Given the description of an element on the screen output the (x, y) to click on. 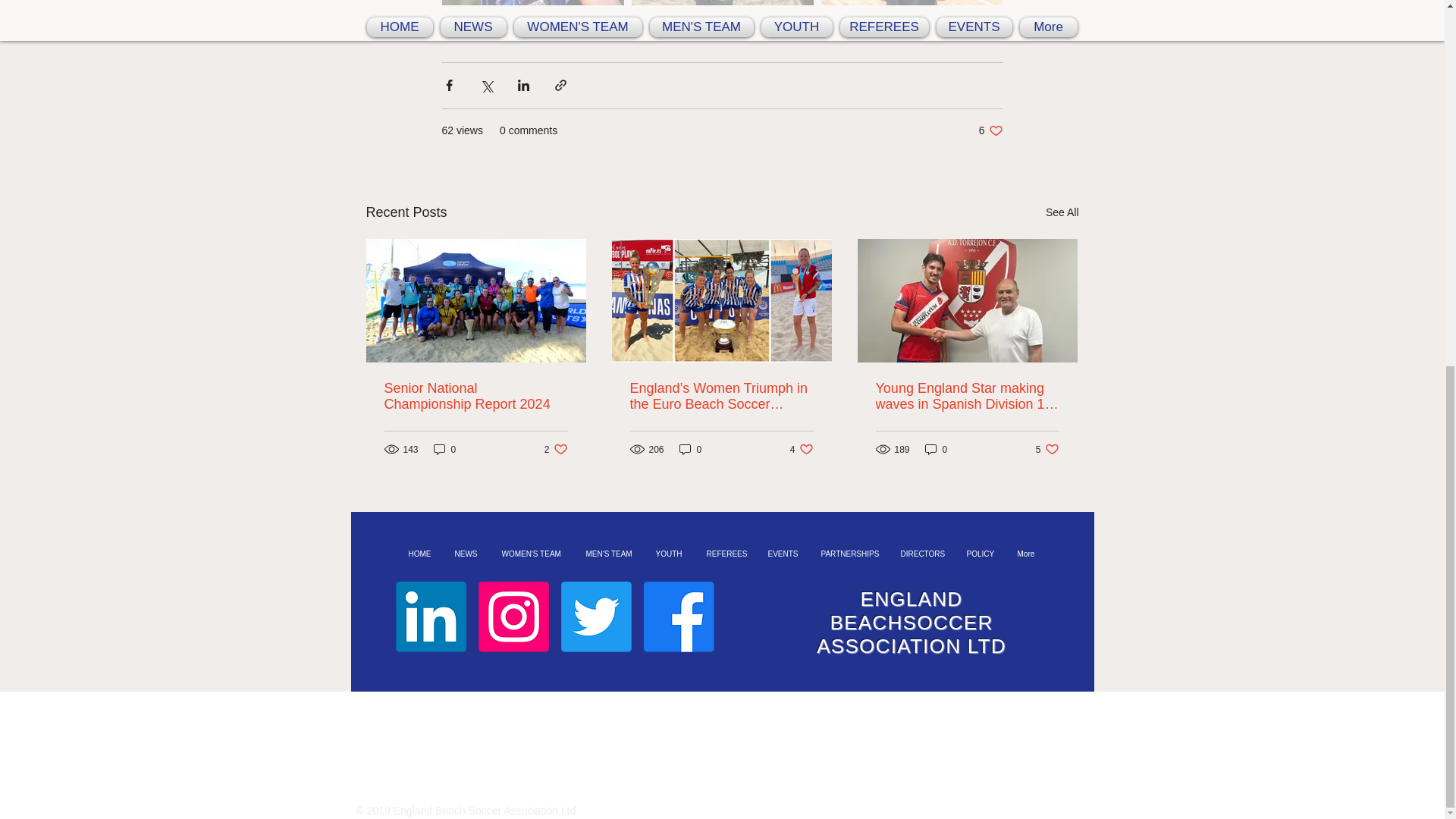
0 (690, 449)
See All (1061, 212)
Senior National Championship Report 2024 (555, 449)
0 (475, 396)
0 (801, 449)
HOME (445, 449)
